Given the description of an element on the screen output the (x, y) to click on. 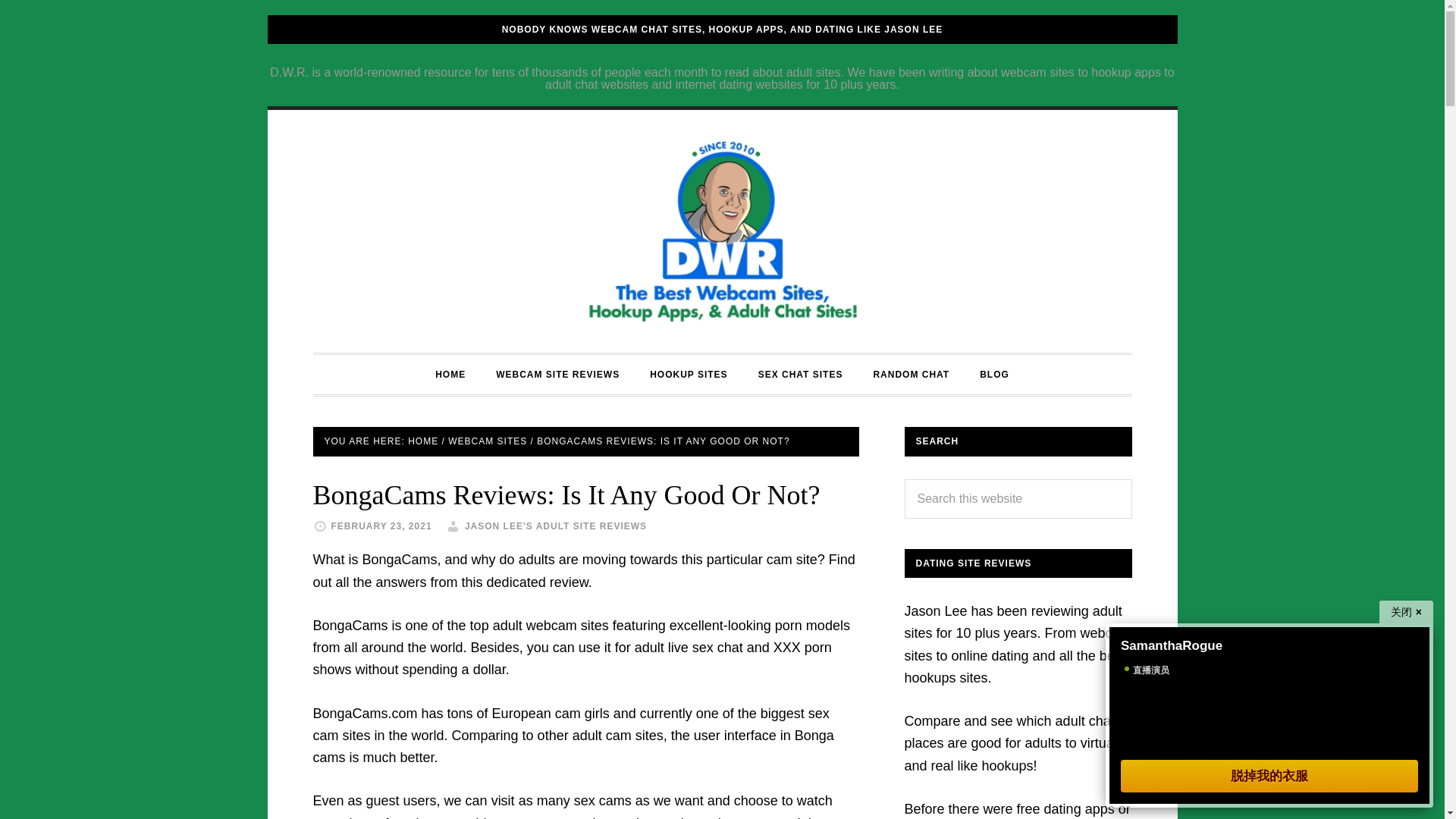
HOME (422, 440)
HOOKUP SITES (688, 373)
RANDOM CHAT (910, 373)
WEBCAM SITE REVIEWS (557, 373)
JASON LEE'S ADULT SITE REVIEWS (555, 525)
SEX CHAT SITES (800, 373)
WEBCAM SITES (487, 440)
BLOG (994, 373)
